Given the description of an element on the screen output the (x, y) to click on. 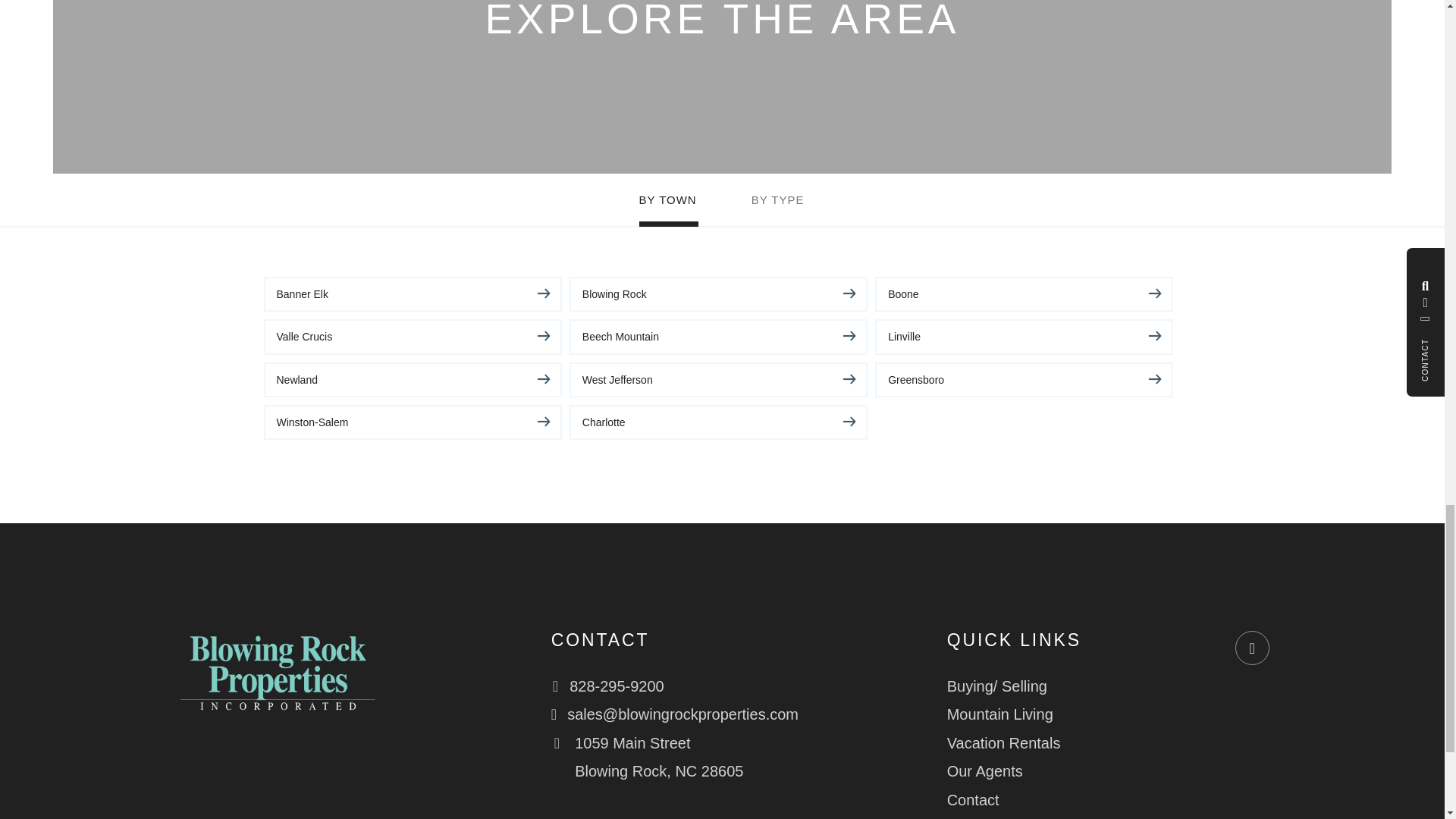
Real Estate for Sale in Valle Crucis NC (412, 336)
Homes For Sale West Jefferson NC (718, 379)
Homes For Sale Charlotte NC (718, 421)
Homes For Sale Banner Elk NC (412, 294)
Real Estate For Sale Beech Mountain NC (718, 336)
Homes For Sale Boone NC (1024, 294)
Homes for Sale Newland NC (412, 379)
Homes For Sale Blowing Rock NC (718, 294)
Homes For Sale Winston-Salem NC (412, 421)
Real Estate For Sale Linville NC (1024, 336)
